Given the description of an element on the screen output the (x, y) to click on. 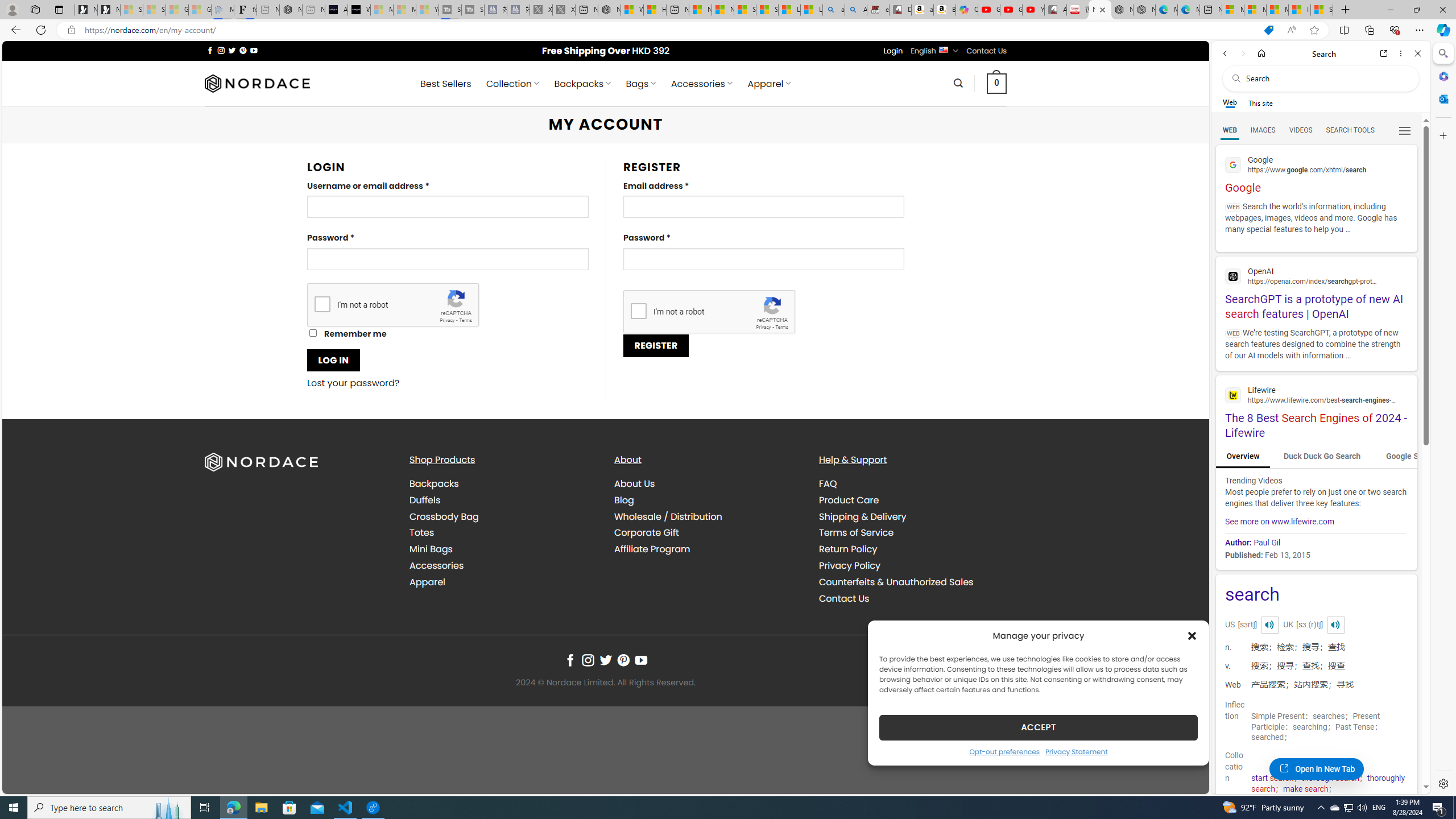
 Best Sellers (445, 83)
Preferences (1403, 129)
Author: Paul Gil (1315, 540)
Counterfeits & Unauthorized Sales (912, 581)
YouTube Kids - An App Created for Kids to Explore Content (1033, 9)
Lifewire (1315, 394)
Nordace - #1 Japanese Best-Seller - Siena Smart Backpack (291, 9)
Crossbody Bag (444, 516)
